Given the description of an element on the screen output the (x, y) to click on. 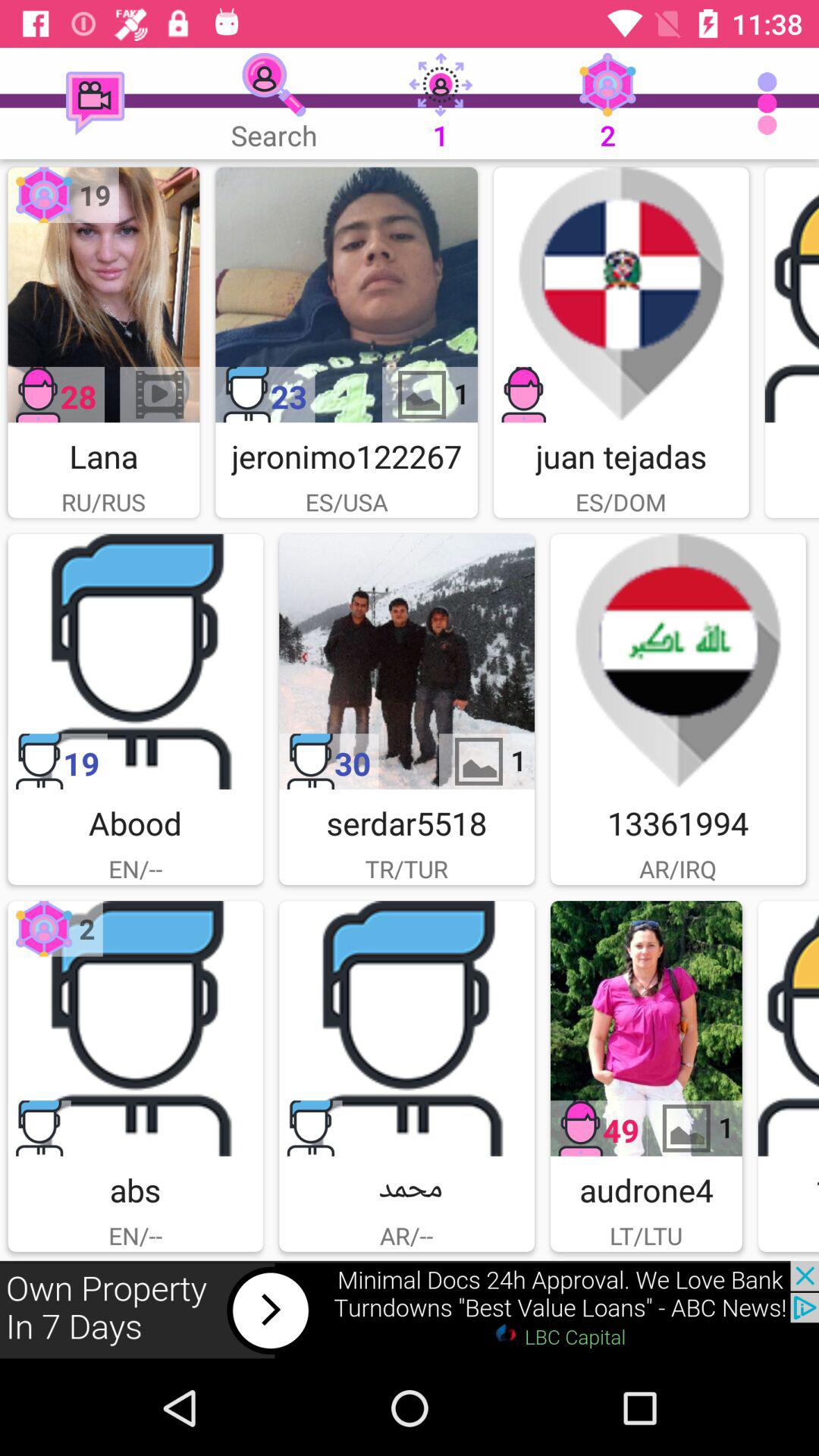
select person (135, 661)
